Given the description of an element on the screen output the (x, y) to click on. 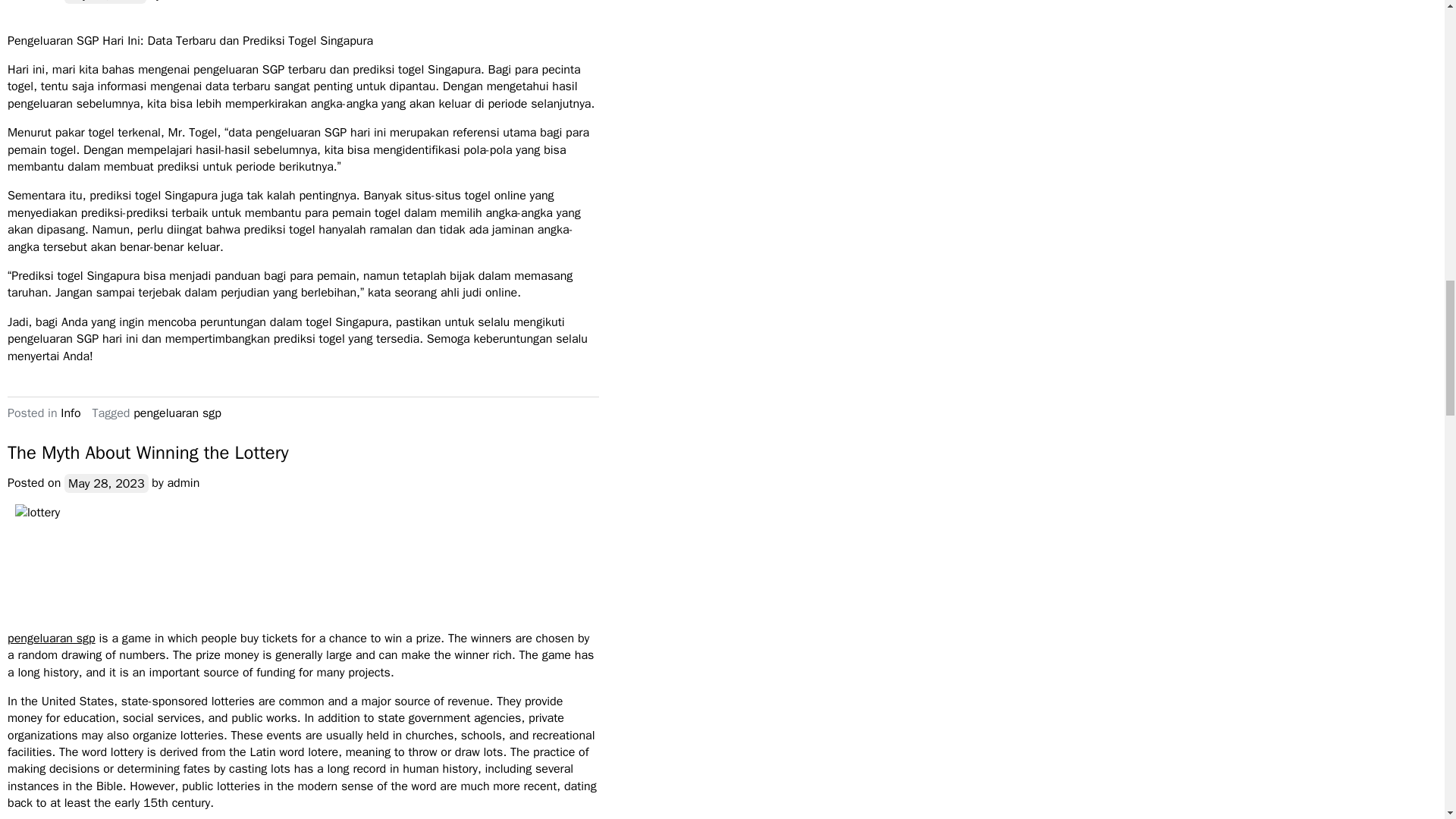
Info (70, 412)
The Myth About Winning the Lottery (147, 452)
May 28, 2023 (106, 483)
admin (181, 1)
admin (183, 482)
pengeluaran sgp (177, 412)
pengeluaran sgp (51, 638)
July 12, 2024 (105, 2)
